Given the description of an element on the screen output the (x, y) to click on. 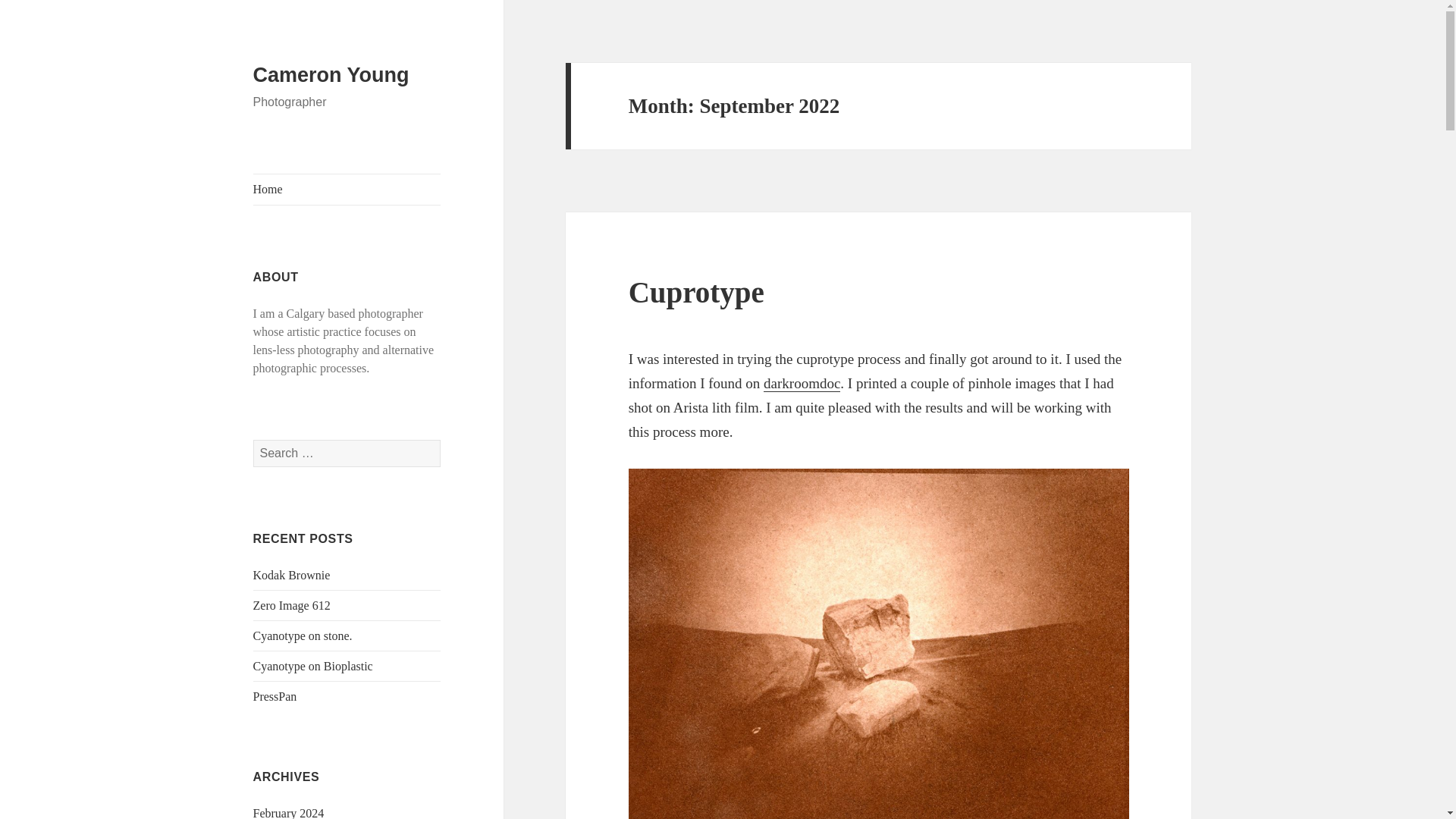
February 2024 (288, 812)
Kodak Brownie (291, 574)
Zero Image 612 (291, 604)
Cyanotype on stone. (302, 635)
Cameron Young (331, 74)
PressPan (275, 696)
Cyanotype on Bioplastic (312, 666)
